Given the description of an element on the screen output the (x, y) to click on. 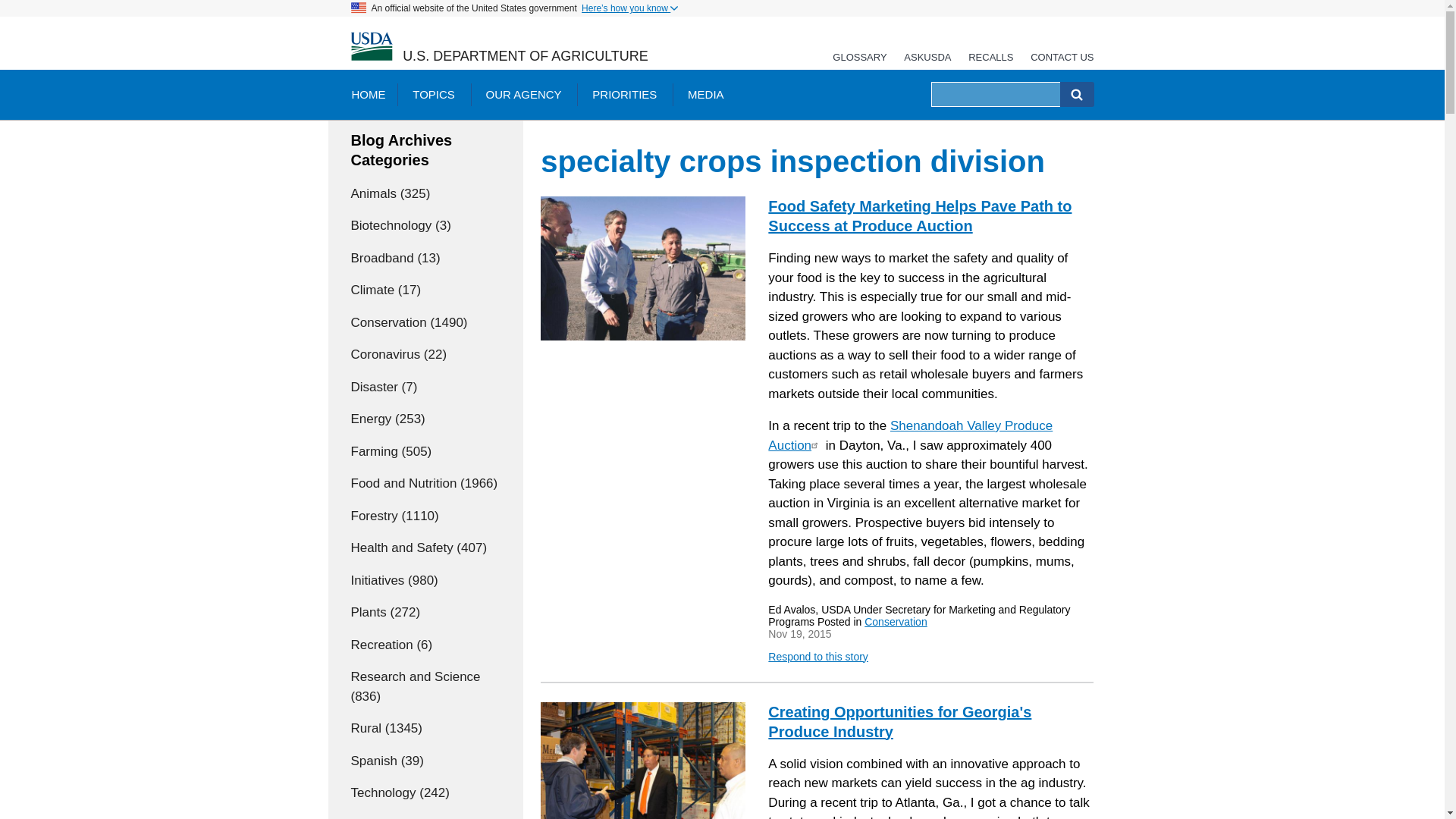
Home (370, 46)
OUR AGENCY (523, 94)
U.S. DEPARTMENT OF AGRICULTURE (525, 55)
Home (525, 55)
TOPICS (433, 94)
PRIORITIES (623, 94)
HOME (367, 94)
